Given the description of an element on the screen output the (x, y) to click on. 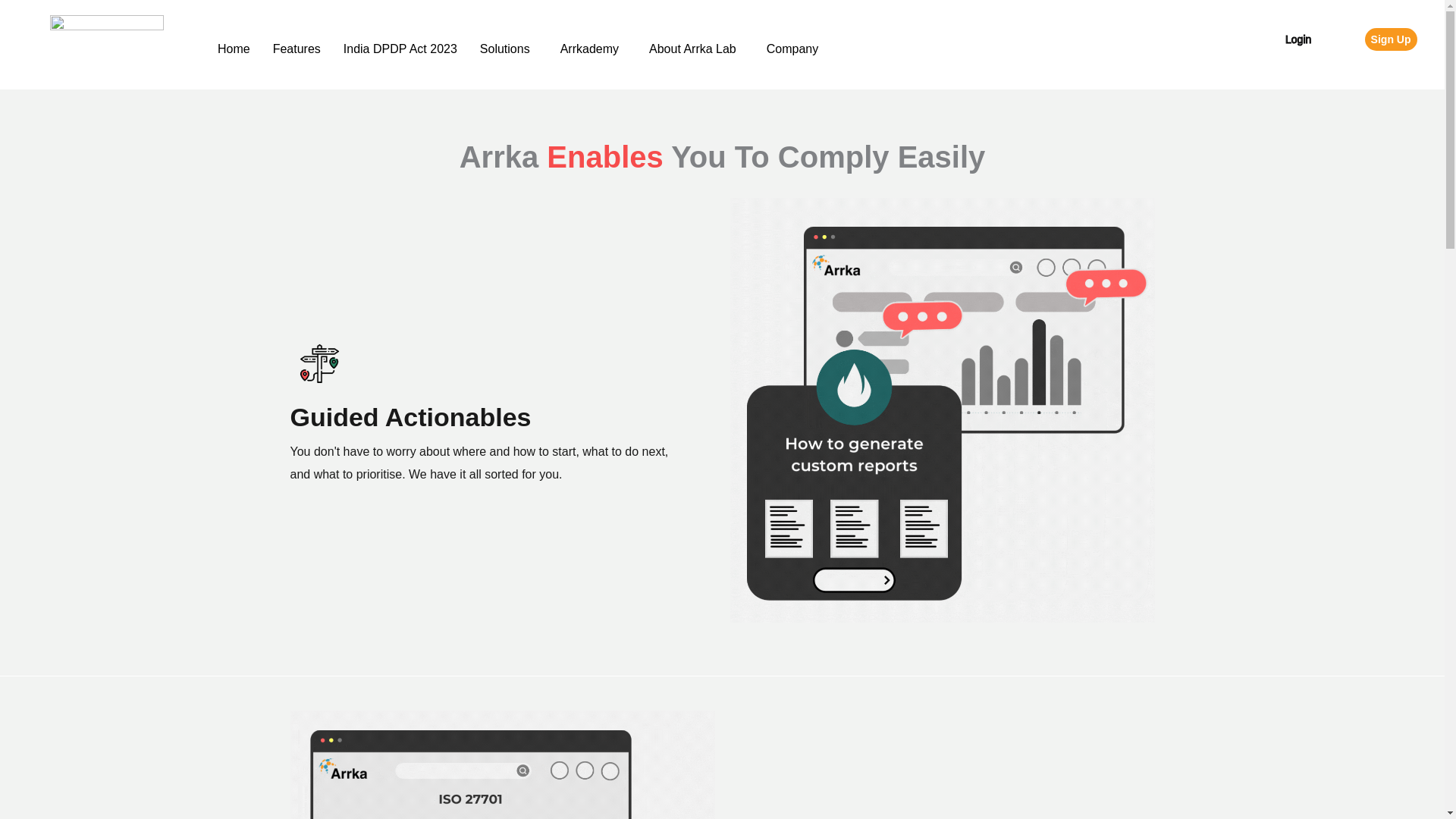
About Arrka Lab (696, 48)
Arrkademy (592, 48)
Company (796, 48)
Features (296, 48)
Login (1298, 39)
Solutions (508, 48)
Sign Up (1390, 38)
Home (234, 48)
India DPDP Act 2023 (399, 48)
